Given the description of an element on the screen output the (x, y) to click on. 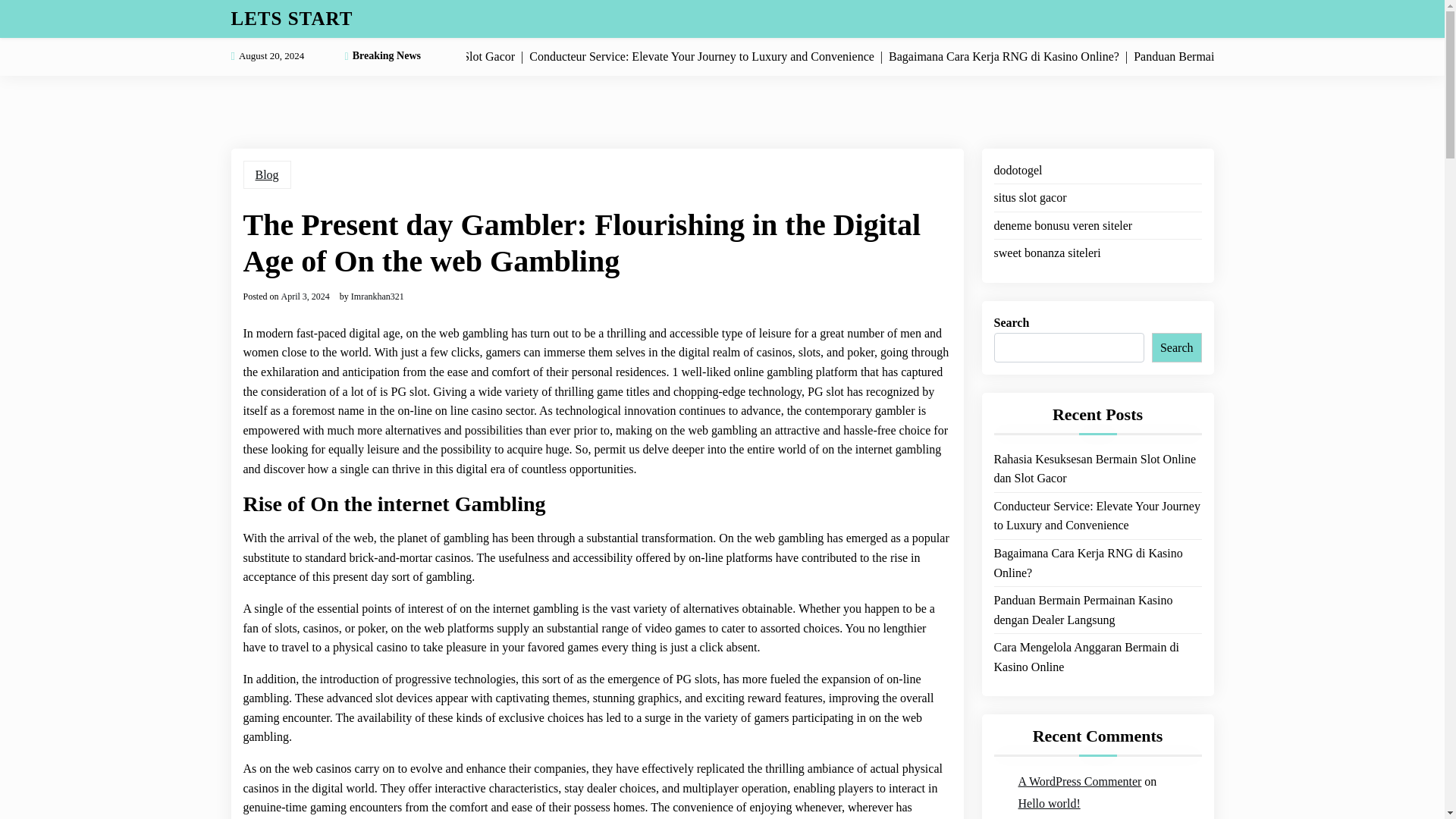
April 3, 2024 (305, 296)
Hello world! (1048, 803)
Imrankhan321 (377, 296)
Search (1176, 347)
Bagaimana Cara Kerja RNG di Kasino Online? (1096, 562)
deneme bonusu veren siteler (1062, 225)
sweet bonanza siteleri (1046, 252)
Blog (266, 174)
Rahasia Kesuksesan Bermain Slot Online dan Slot Gacor (1096, 468)
